Given the description of an element on the screen output the (x, y) to click on. 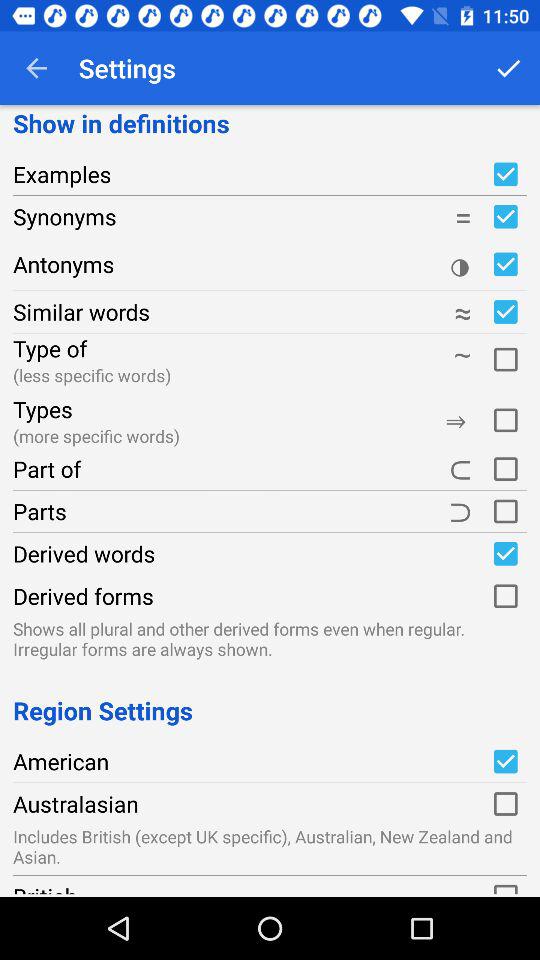
toggle derived words option (505, 553)
